Given the description of an element on the screen output the (x, y) to click on. 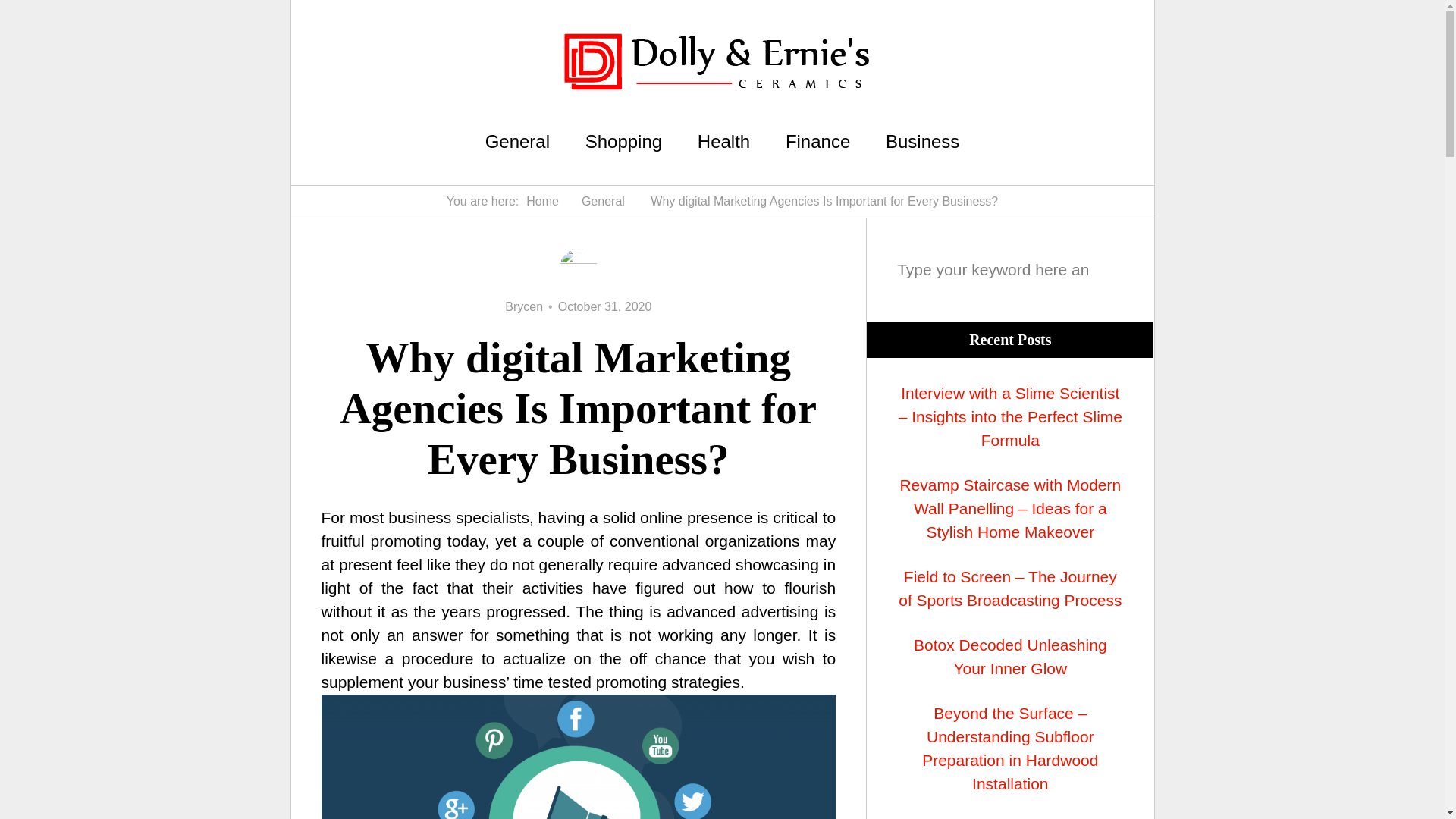
Botox Decoded Unleashing Your Inner Glow (1009, 656)
October 31, 2020 (604, 306)
Health (723, 141)
Brycen (524, 306)
General (602, 201)
General (517, 141)
Home (542, 201)
Search (1113, 142)
Shopping (623, 141)
Business (922, 141)
Finance (818, 141)
